Given the description of an element on the screen output the (x, y) to click on. 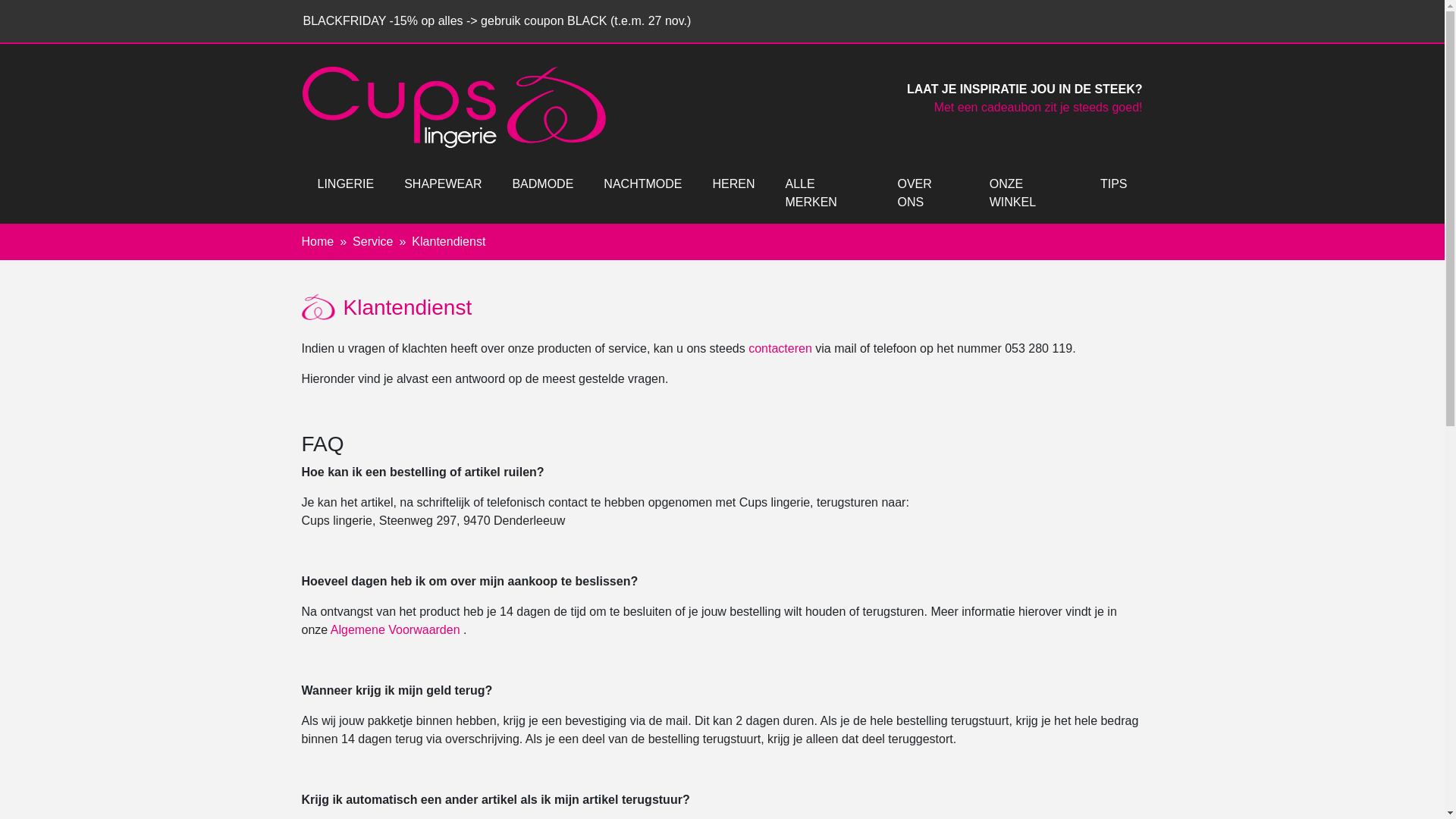
NACHTMODE Element type: text (642, 184)
ONZE WINKEL Element type: text (1029, 193)
HEREN Element type: text (733, 184)
BADMODE Element type: text (542, 184)
Home Element type: text (317, 241)
ALLE MERKEN Element type: text (825, 193)
TIPS Element type: text (1113, 184)
OVER ONS Element type: text (927, 193)
SHAPEWEAR Element type: text (442, 184)
Service Element type: text (372, 241)
Algemene Voorwaarden Element type: text (395, 629)
contacteren Element type: text (780, 348)
LINGERIE Element type: text (344, 184)
